Given the description of an element on the screen output the (x, y) to click on. 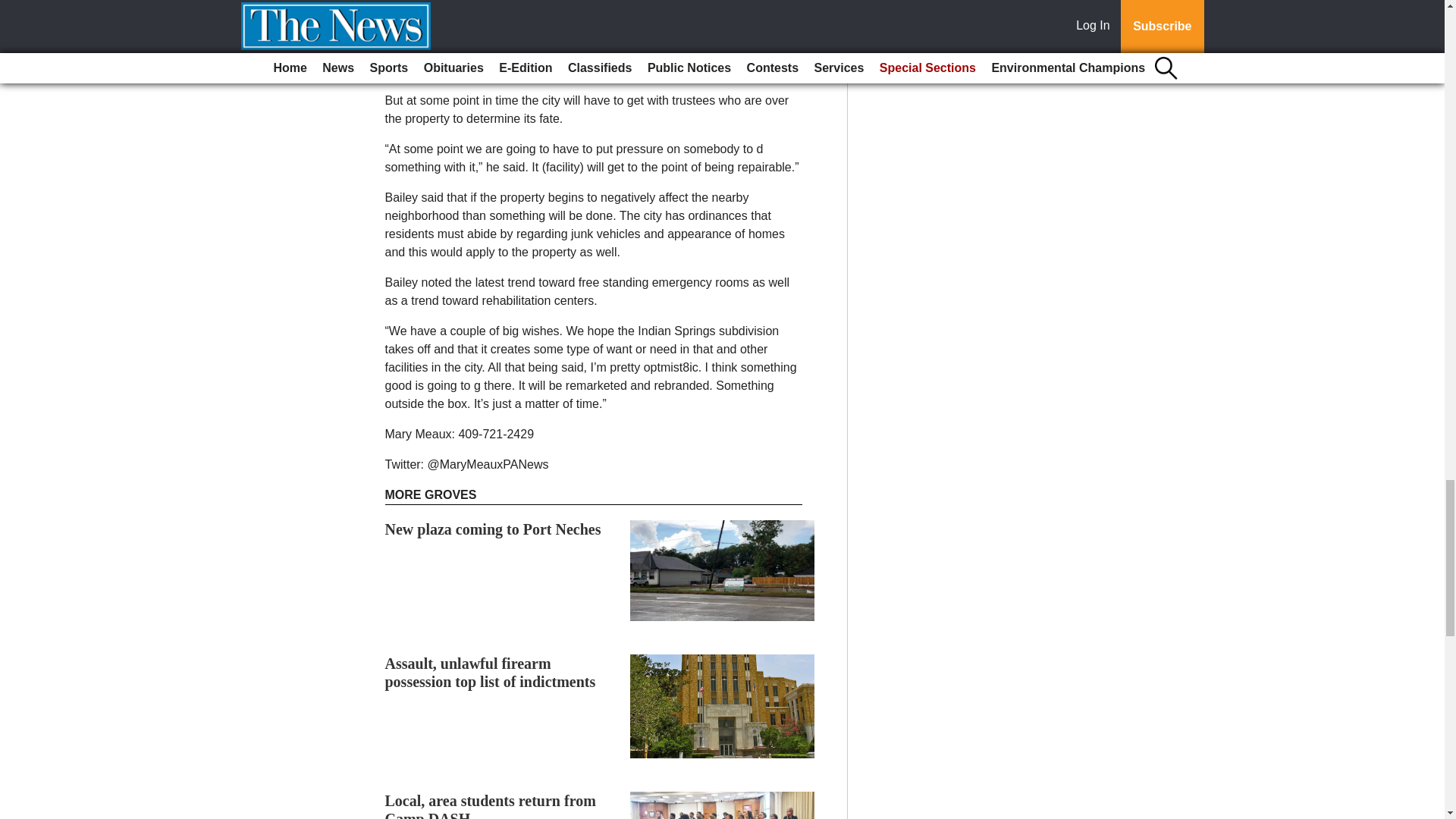
Local, area students return from Camp DASH (490, 805)
New plaza coming to Port Neches (493, 528)
Assault, unlawful firearm possession top list of indictments (490, 672)
New plaza coming to Port Neches (493, 528)
Assault, unlawful firearm possession top list of indictments (490, 672)
Local, area students return from Camp DASH (490, 805)
